Given the description of an element on the screen output the (x, y) to click on. 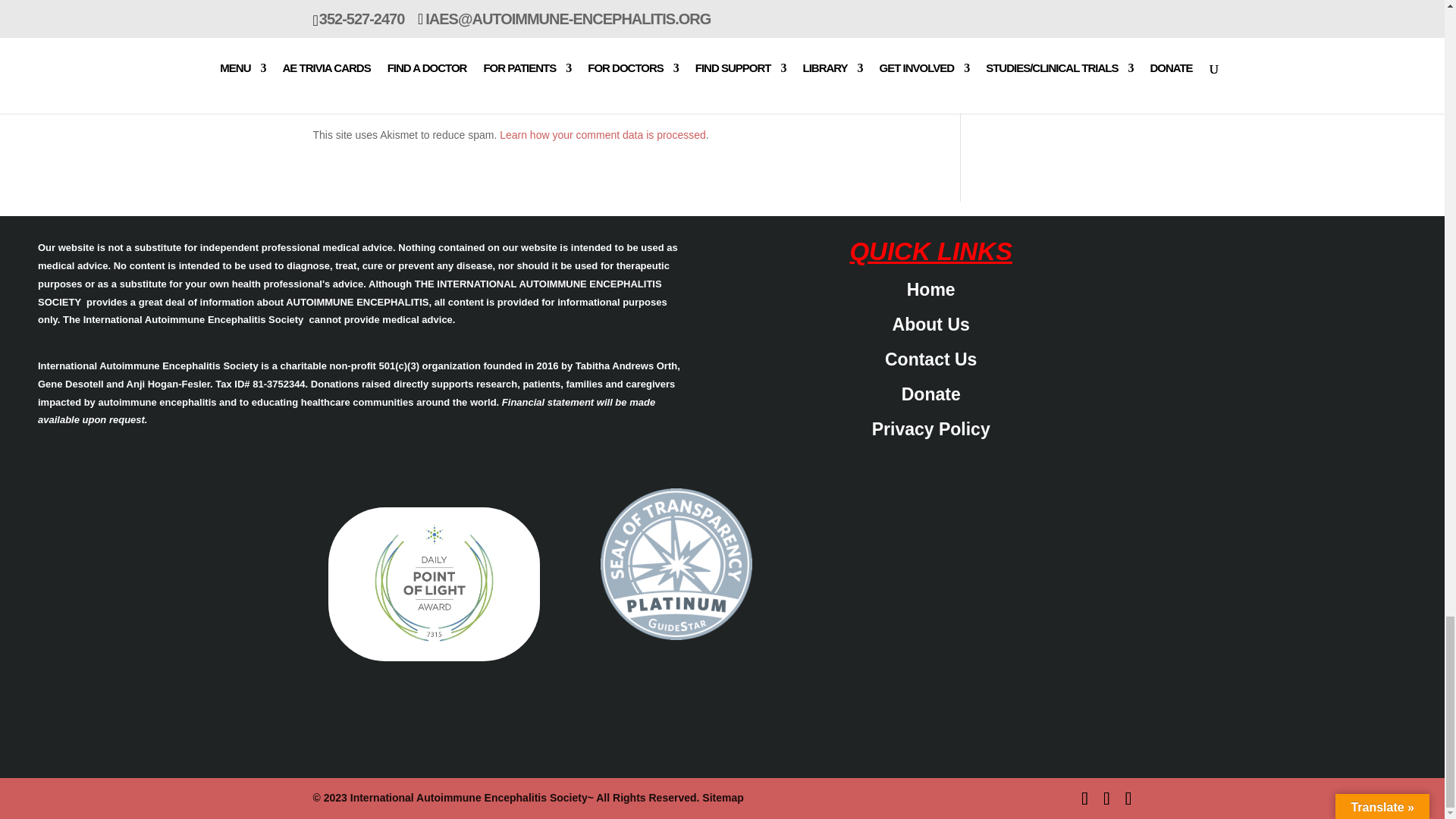
guidestar-platinum-logo-300x300 (675, 563)
Submit Comment (840, 58)
yes (319, 19)
Tabitha Orth (434, 583)
